Given the description of an element on the screen output the (x, y) to click on. 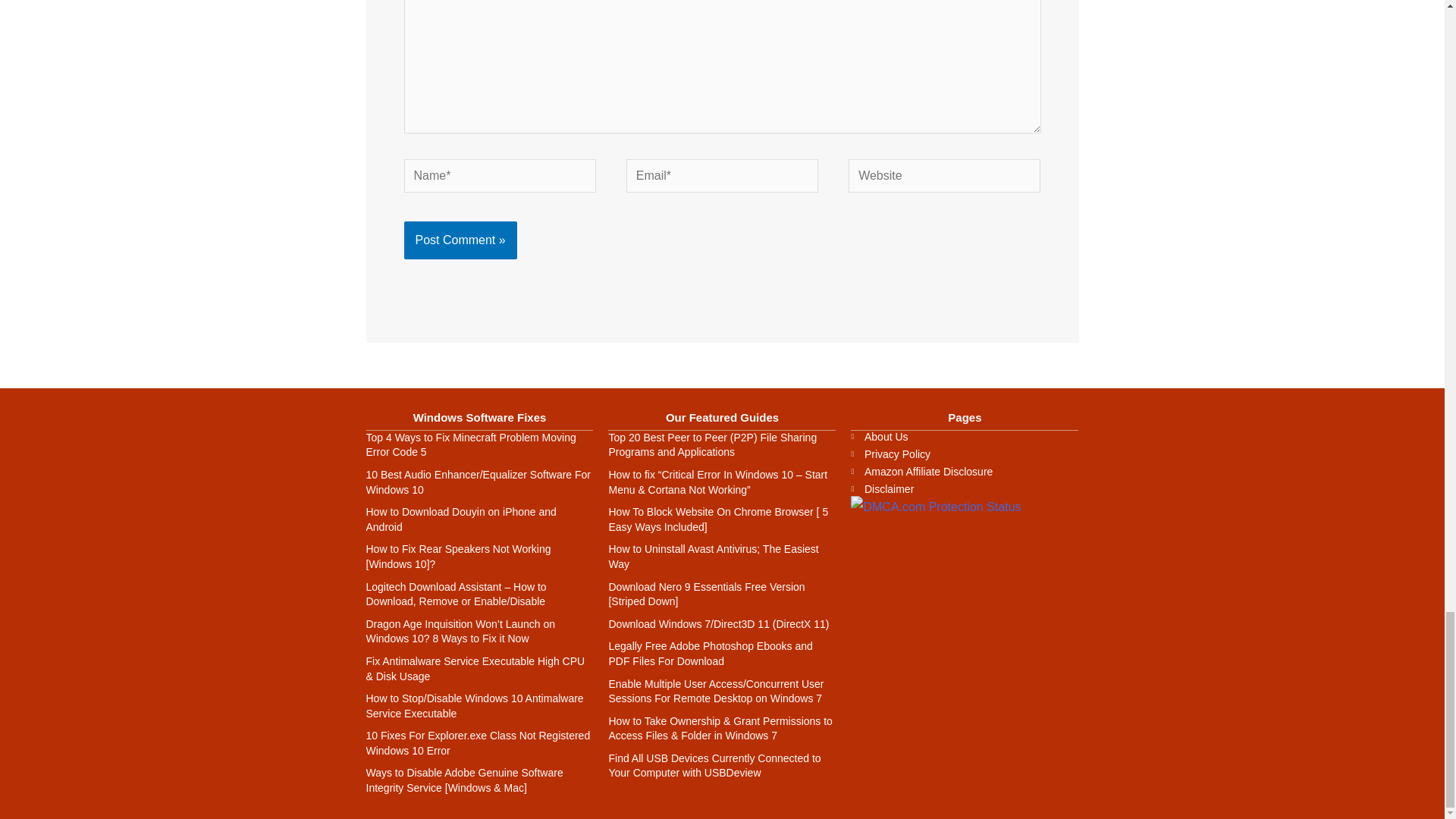
Top 4 Ways to Fix Minecraft Problem Moving Error Code 5 (470, 444)
How to Uninstall Avast Antivirus; The Easiest Way (713, 556)
How to Download Douyin on iPhone and Android (460, 519)
DMCA.com Protection Status (935, 505)
